Given the description of an element on the screen output the (x, y) to click on. 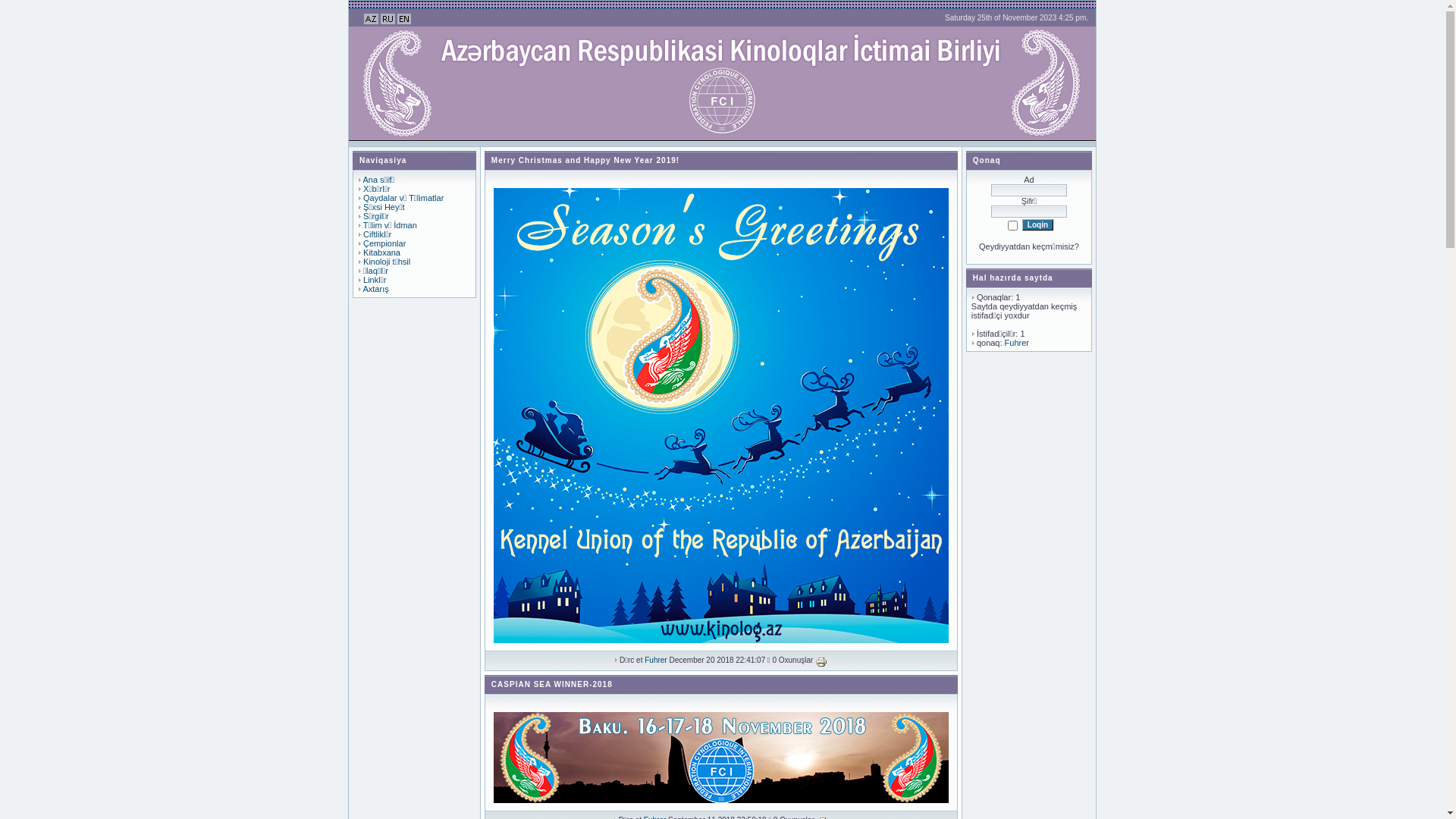
Loqin Element type: text (1037, 224)
Kitabxana Element type: text (381, 252)
Fuhrer Element type: text (655, 659)
Fuhrer Element type: text (1016, 342)
